Given the description of an element on the screen output the (x, y) to click on. 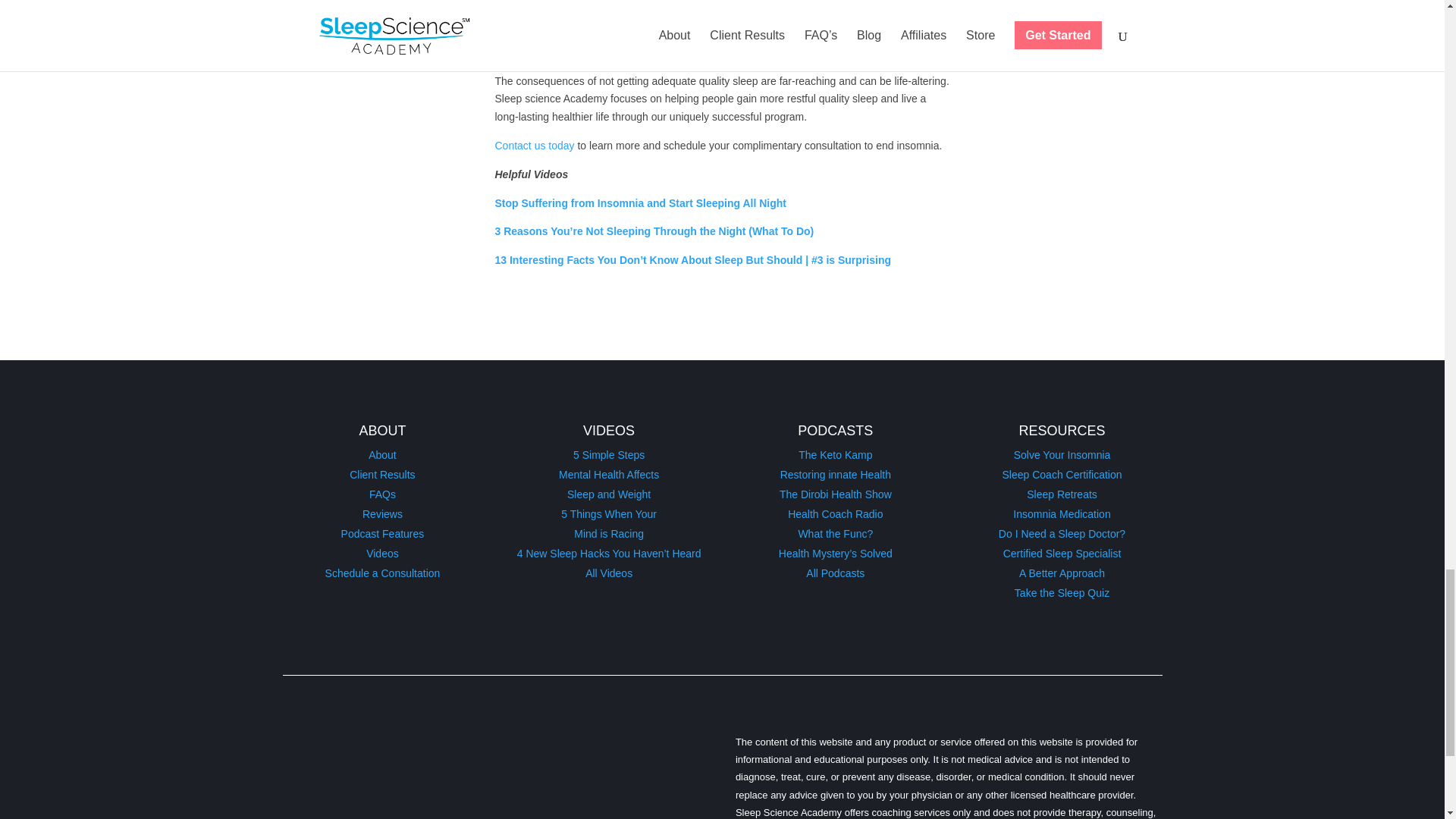
Restoring innate Health (835, 474)
The Dirobi Health Show (834, 494)
Mind is Racing (608, 533)
5 Simple Steps (609, 454)
Mental Health Affects (609, 474)
All Videos (608, 573)
Client Results (381, 474)
Contact us today (534, 145)
About (382, 454)
5 Things When Your (608, 513)
FAQs (382, 494)
Health Coach Radio (834, 513)
ssa-white-small (427, 771)
Sleep and Weight (608, 494)
Schedule a Consultation (382, 573)
